Given the description of an element on the screen output the (x, y) to click on. 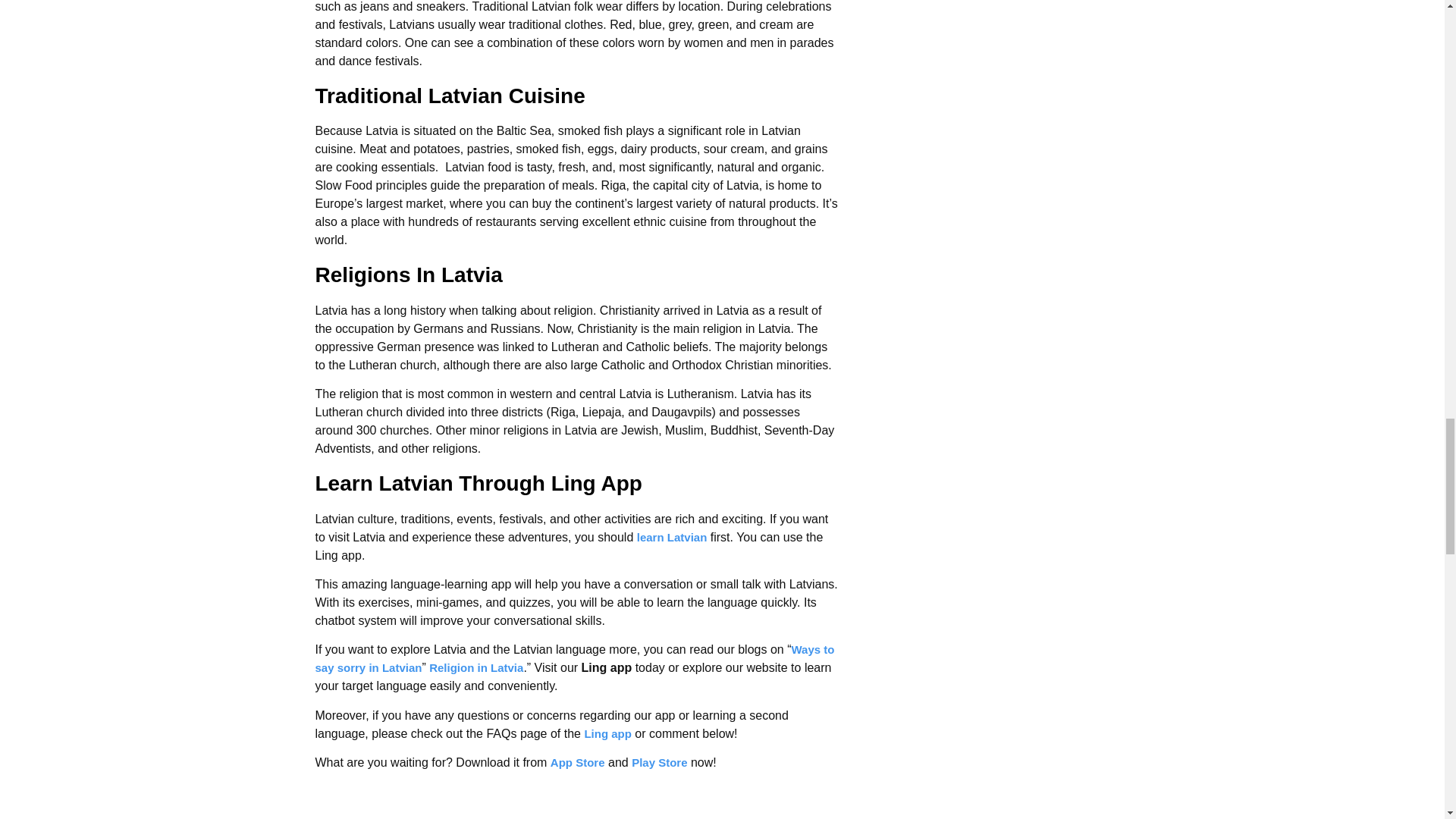
Ling app (607, 733)
Religion in Latvia (475, 667)
Ways to say sorry in Latvian (574, 658)
App Store (577, 762)
learn Latvian (672, 536)
Play Store (659, 762)
